Given the description of an element on the screen output the (x, y) to click on. 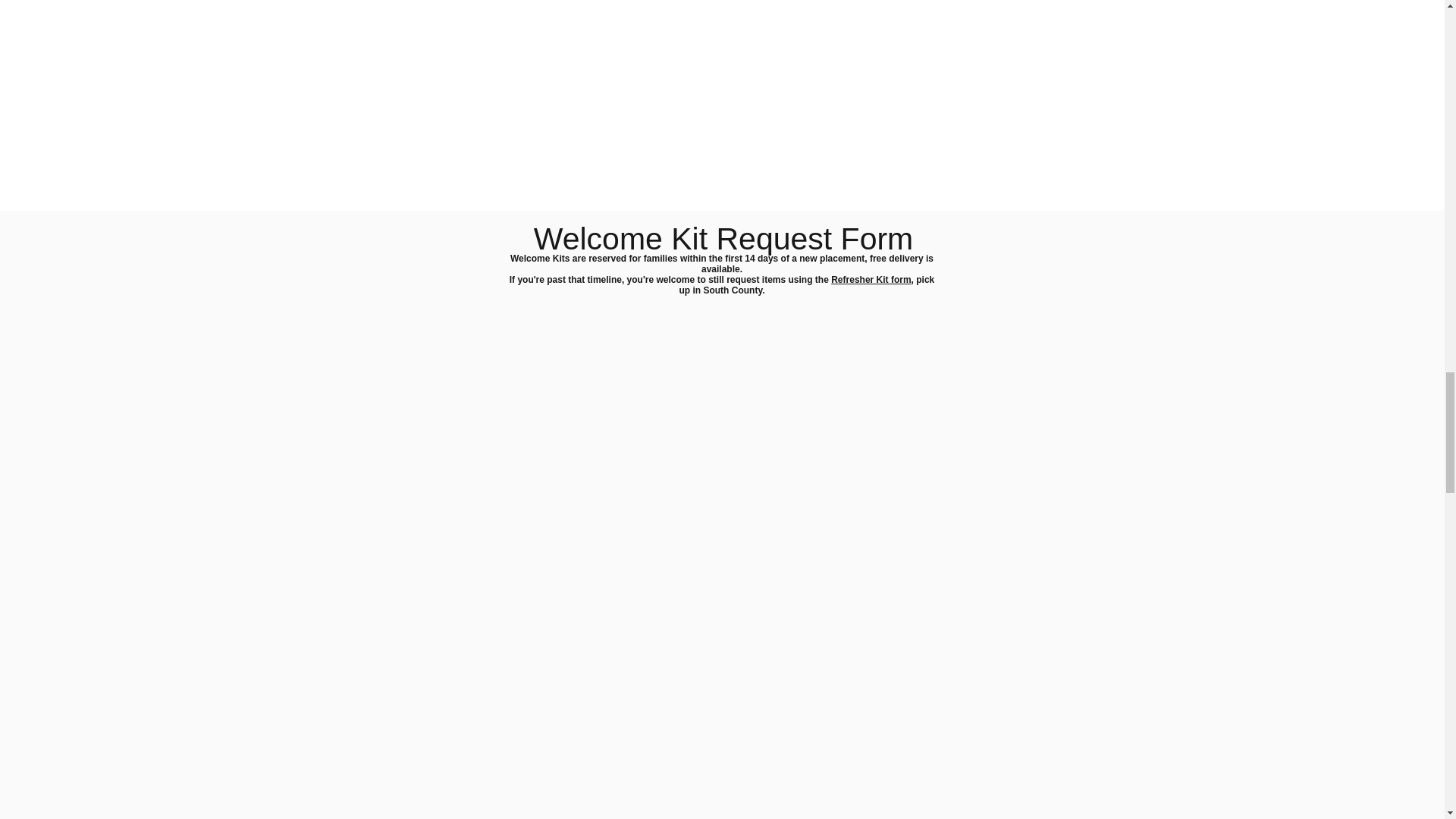
Refresher Kit form, (872, 279)
